Given the description of an element on the screen output the (x, y) to click on. 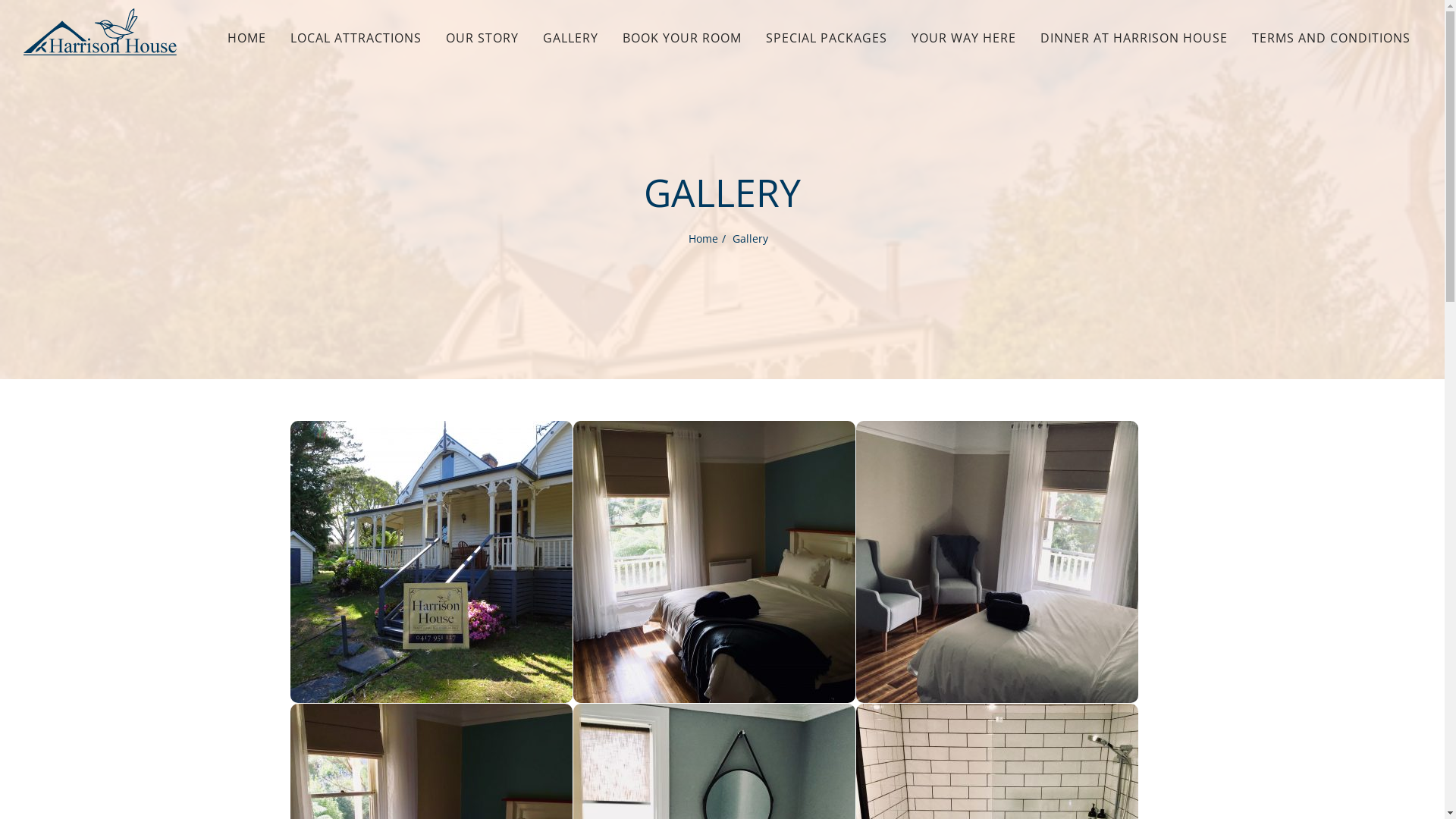
GALLERY Element type: text (570, 37)
HH sign pink flowers Element type: hover (430, 561)
Bed 2.2 Element type: hover (996, 561)
BOOK YOUR ROOM Element type: text (682, 37)
TERMS AND CONDITIONS Element type: text (1330, 37)
SPECIAL PACKAGES Element type: text (826, 37)
LOCAL ATTRACTIONS Element type: text (356, 37)
Bed 2.3 Element type: hover (714, 561)
YOUR WAY HERE Element type: text (963, 37)
Harrison BNB Element type: hover (99, 31)
HOME Element type: text (246, 37)
DINNER AT HARRISON HOUSE Element type: text (1134, 37)
OUR STORY Element type: text (482, 37)
Home Element type: text (703, 237)
